Given the description of an element on the screen output the (x, y) to click on. 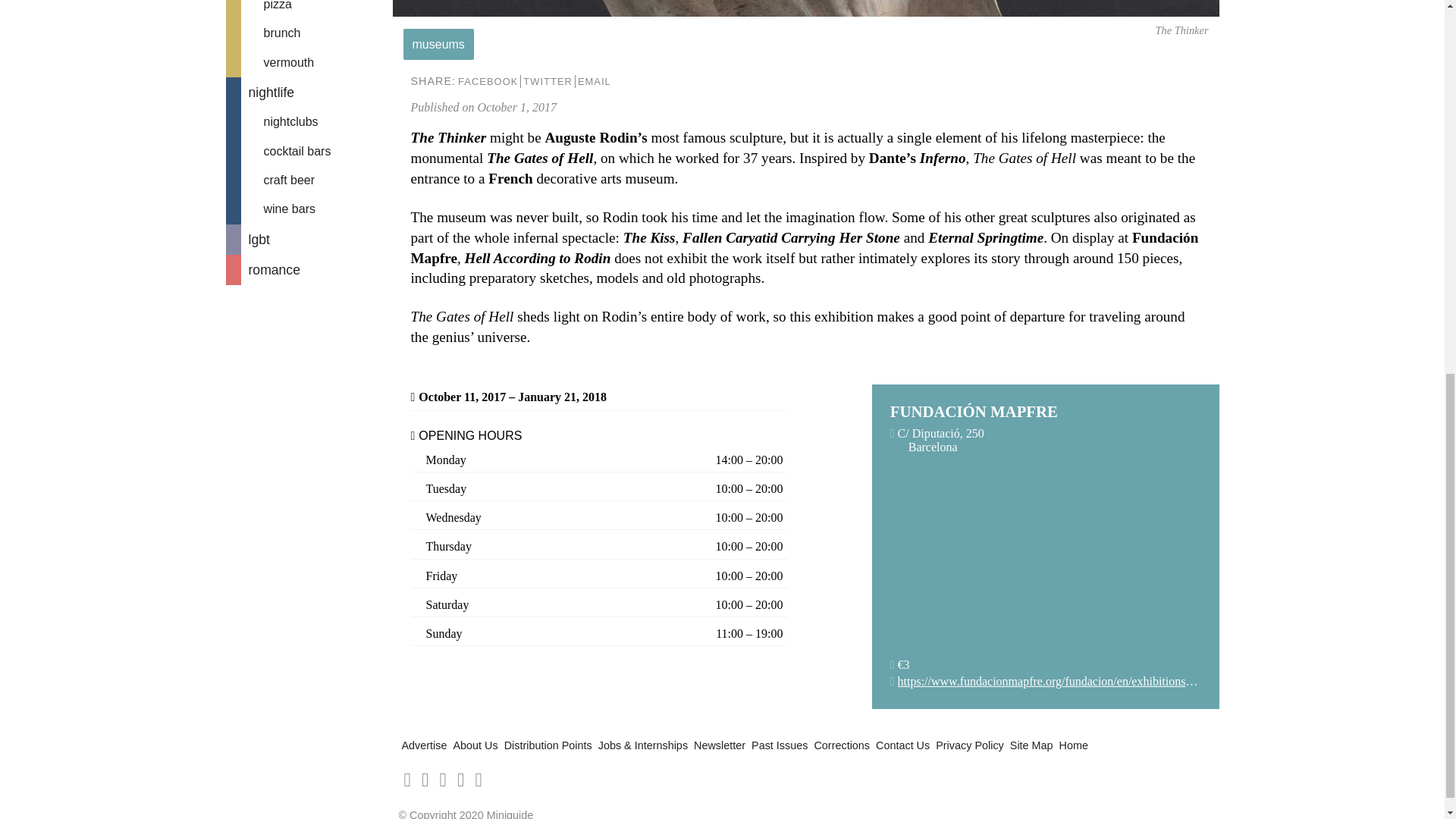
cocktail bars (309, 151)
brunch (309, 32)
Newsletter (719, 745)
museums (438, 43)
craft beer (309, 180)
Distribution Points (547, 745)
Advertise (423, 745)
EMAIL (593, 81)
lgbt (309, 239)
nightclubs (309, 121)
nightlife (309, 91)
TWITTER (547, 81)
pizza (309, 9)
FACEBOOK (487, 81)
wine bars (309, 208)
